Given the description of an element on the screen output the (x, y) to click on. 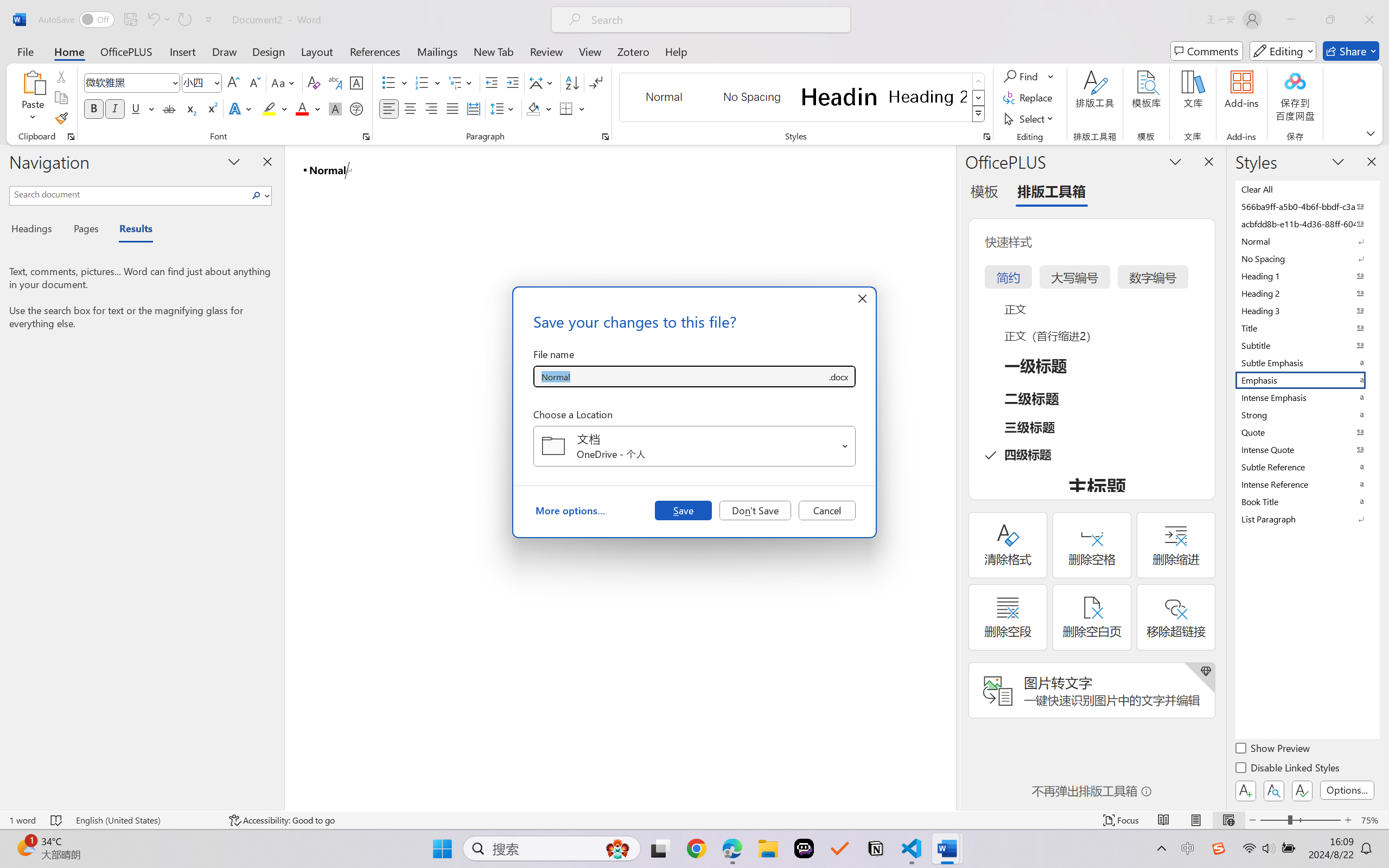
Shading (539, 108)
Heading 2 (927, 96)
Bullets (395, 82)
Superscript (210, 108)
Font... (365, 136)
Styles... (986, 136)
Disable Linked Styles (1287, 769)
Show/Hide Editing Marks (595, 82)
